Given the description of an element on the screen output the (x, y) to click on. 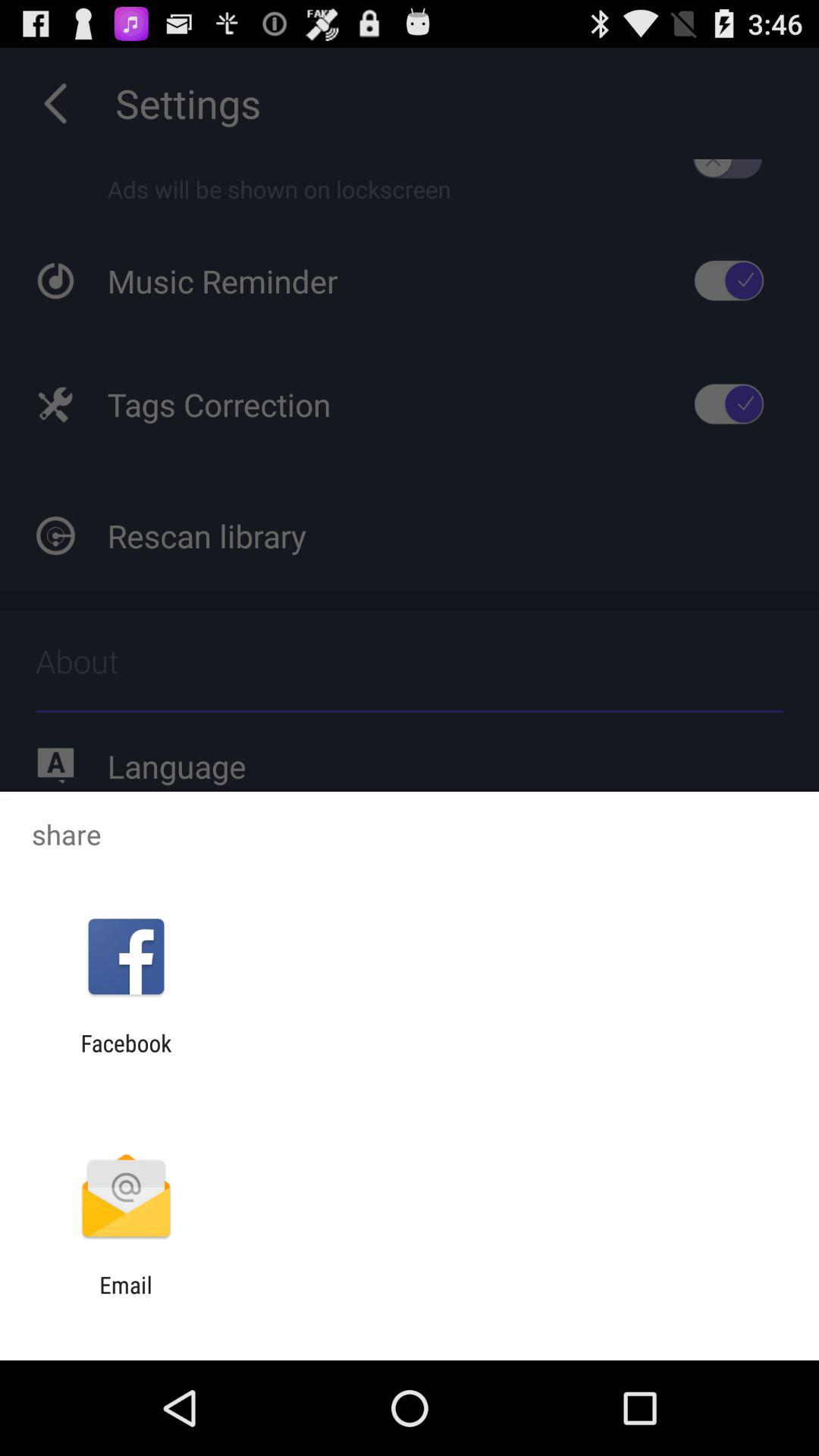
swipe to email icon (125, 1298)
